Given the description of an element on the screen output the (x, y) to click on. 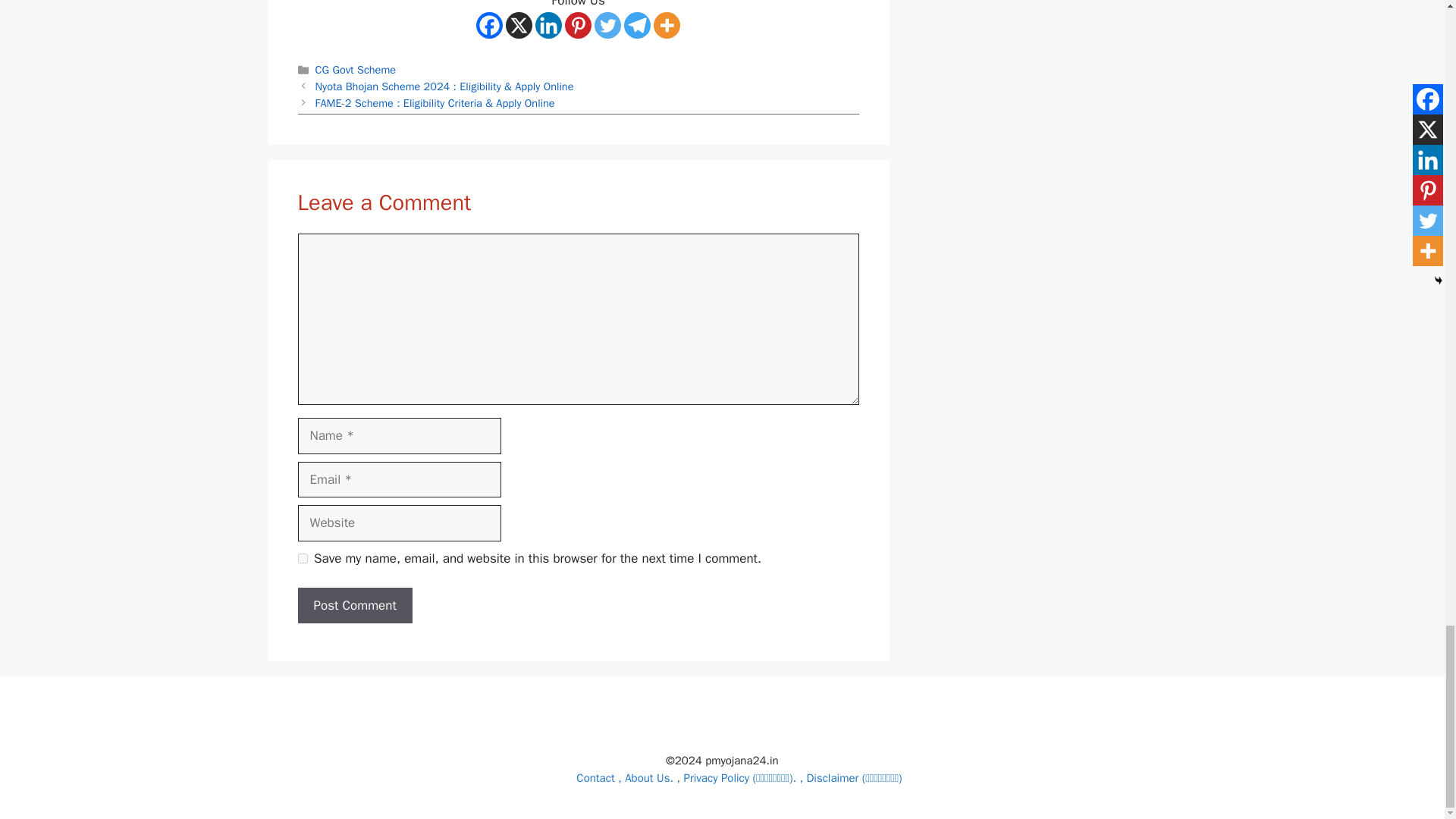
More (666, 25)
X (518, 25)
yes (302, 558)
Linkedin (548, 25)
Twitter (607, 25)
Pinterest (577, 25)
Telegram (637, 25)
Facebook (489, 25)
Post Comment (354, 606)
CG Govt Scheme (355, 69)
